Given the description of an element on the screen output the (x, y) to click on. 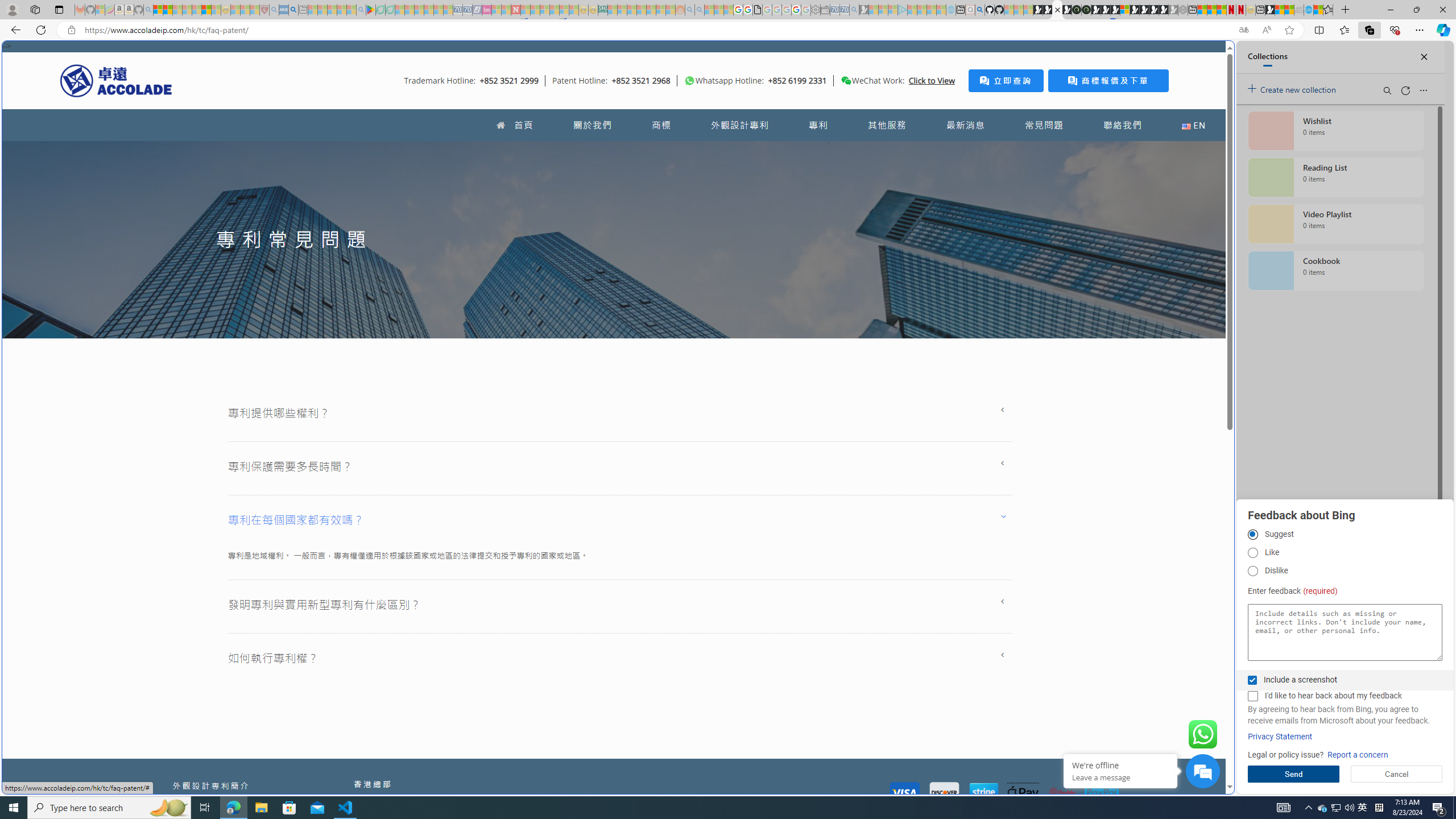
Show translate options (1243, 29)
Kinda Frugal - MSN - Sleeping (651, 9)
Future Focus Report 2024 (1085, 9)
Sign in to your account (1124, 9)
Bluey: Let's Play! - Apps on Google Play (370, 9)
